Given the description of an element on the screen output the (x, y) to click on. 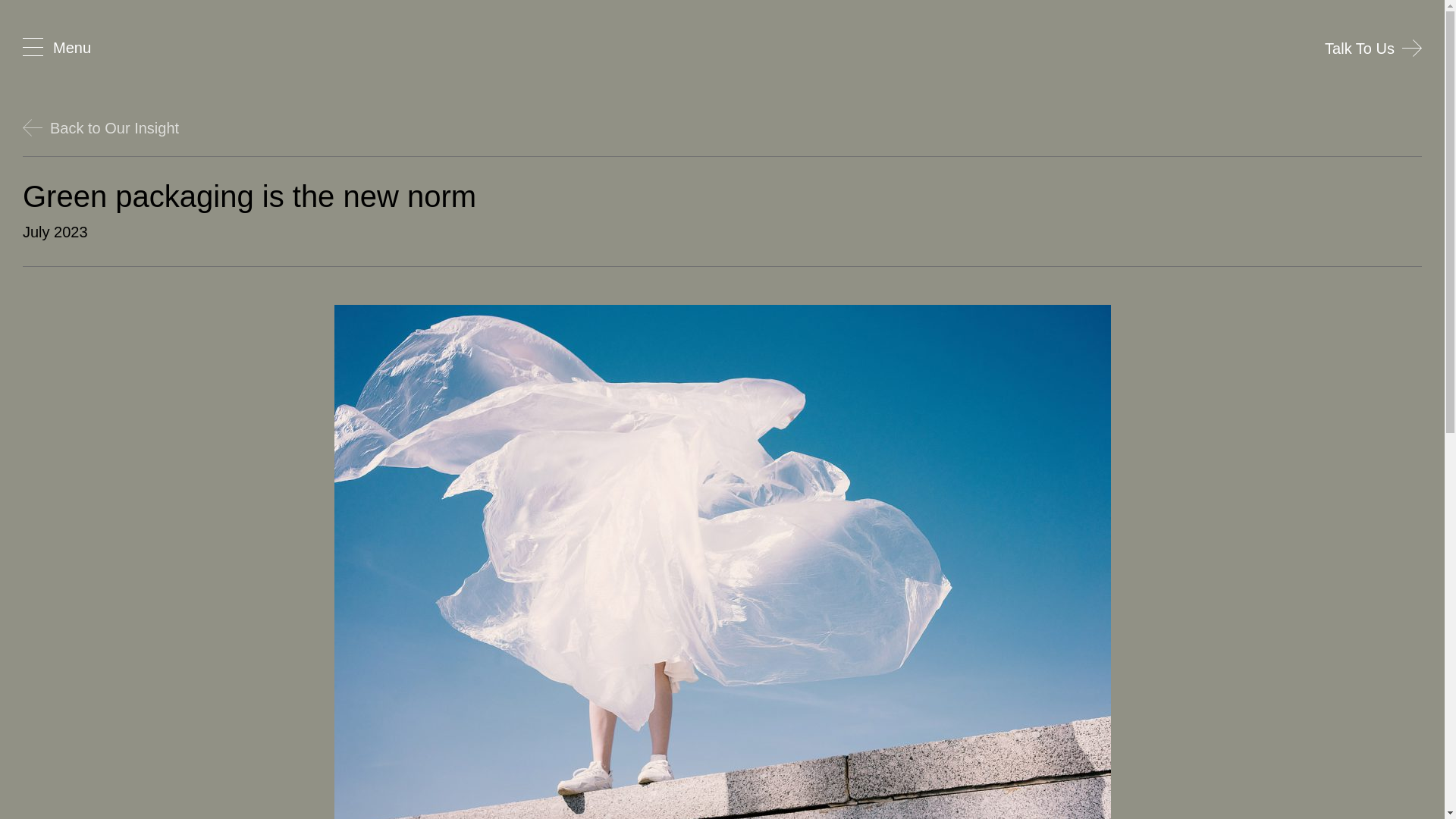
Back to Our Insight (101, 127)
